Given the description of an element on the screen output the (x, y) to click on. 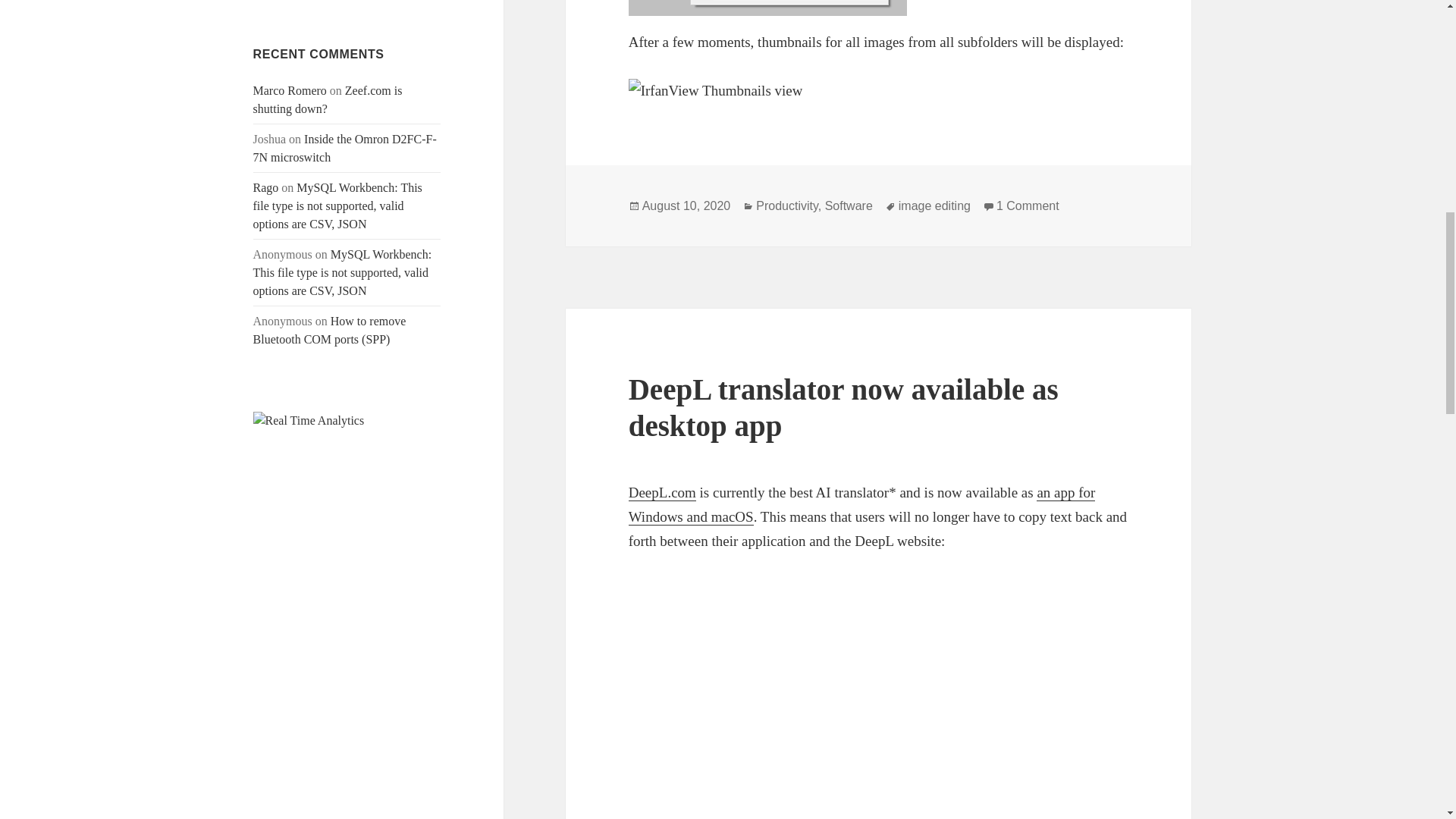
Inside the Omron D2FC-F-7N microswitch (344, 147)
Real Time Analytics (309, 419)
Software (848, 205)
Marco Romero (289, 90)
DeepL.com (661, 492)
image editing (934, 205)
Zeef.com is shutting down? (328, 99)
an app for Windows and macOS (862, 504)
Productivity (786, 205)
DeepL translator now available as desktop app (843, 407)
August 10, 2020 (686, 205)
Rago (266, 187)
